Given the description of an element on the screen output the (x, y) to click on. 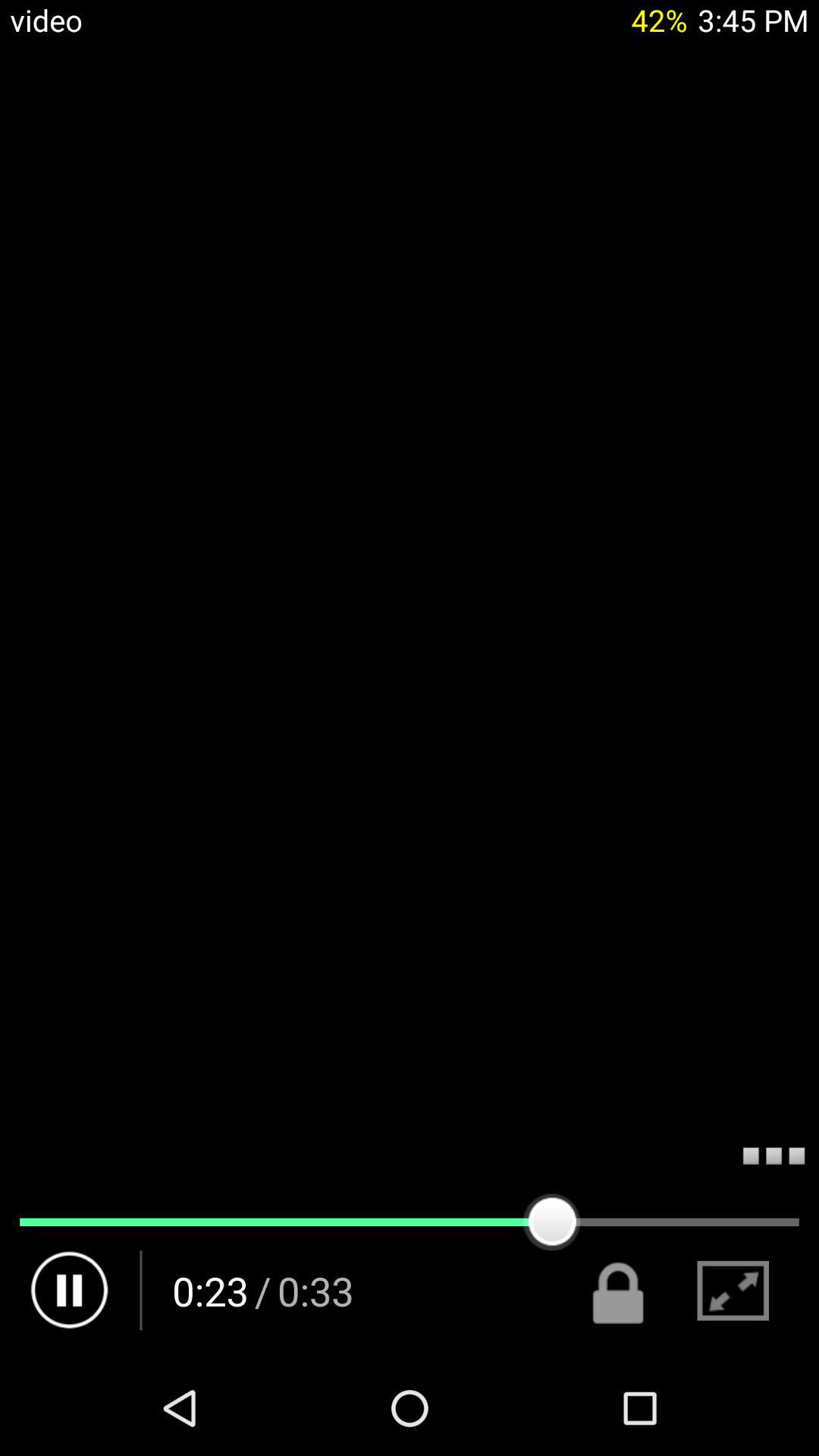
click on pause button (69, 1290)
select the  033 number  (315, 1290)
click on the icon next to the lock icon (733, 1290)
click on the lock icon which is left side of full screen icon (618, 1290)
